Given the description of an element on the screen output the (x, y) to click on. 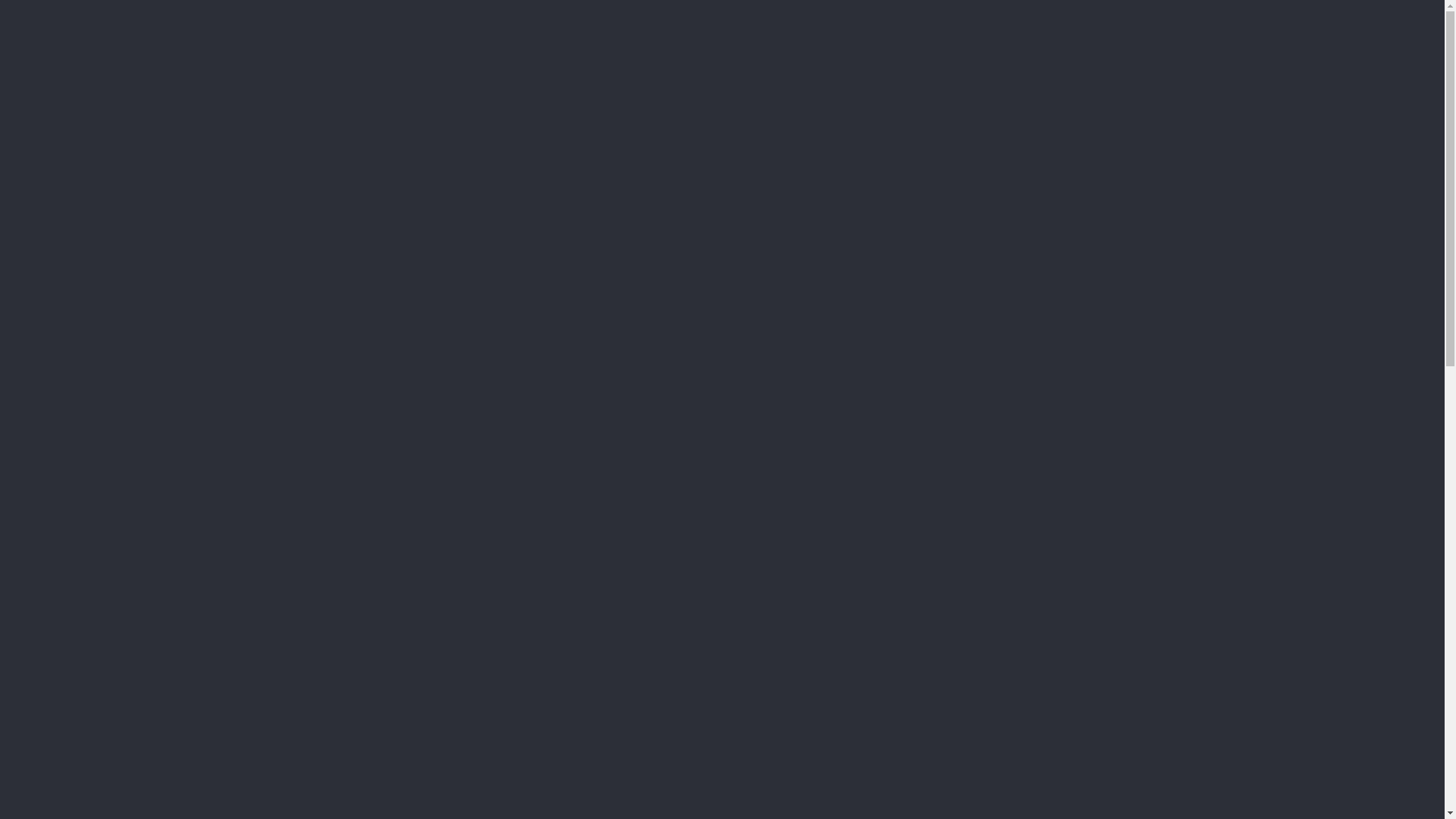
Gallery Element type: text (1001, 46)
forel-web-9558-2-866px Element type: hover (840, 461)
Contact Element type: text (1171, 46)
Services Element type: text (937, 46)
forel-web-9551-2-866px Element type: hover (1081, 461)
Home Element type: text (876, 46)
forel-web-9721-2-866px Element type: hover (1081, 212)
forel-web-9761-2-866px Element type: hover (600, 212)
forel-web-9585-866px Element type: hover (600, 461)
Blog Element type: text (1114, 46)
forel-web-9433-866px Element type: hover (360, 212)
forel-web-9638-866px Element type: hover (360, 461)
Review Element type: text (1061, 46)
forel-web-9759-2-866px Element type: hover (840, 212)
